Given the description of an element on the screen output the (x, y) to click on. 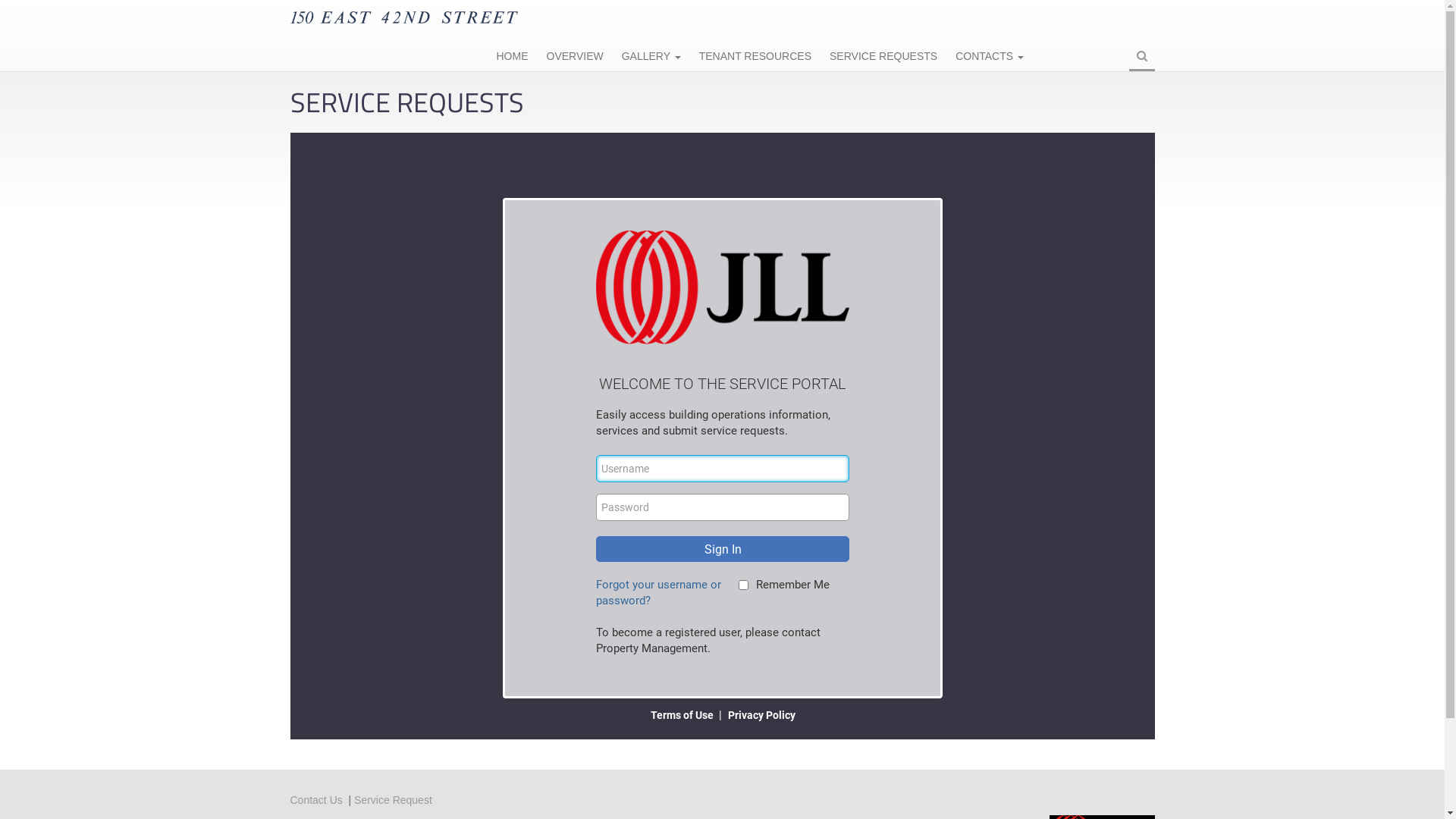
SERVICE REQUESTS Element type: text (883, 57)
GALLERY Element type: text (651, 57)
CONTACTS Element type: text (989, 57)
HOME Element type: text (511, 57)
Service Request Element type: text (393, 799)
TENANT RESOURCES Element type: text (755, 57)
Contact Us Element type: text (315, 799)
OVERVIEW Element type: text (573, 57)
